Given the description of an element on the screen output the (x, y) to click on. 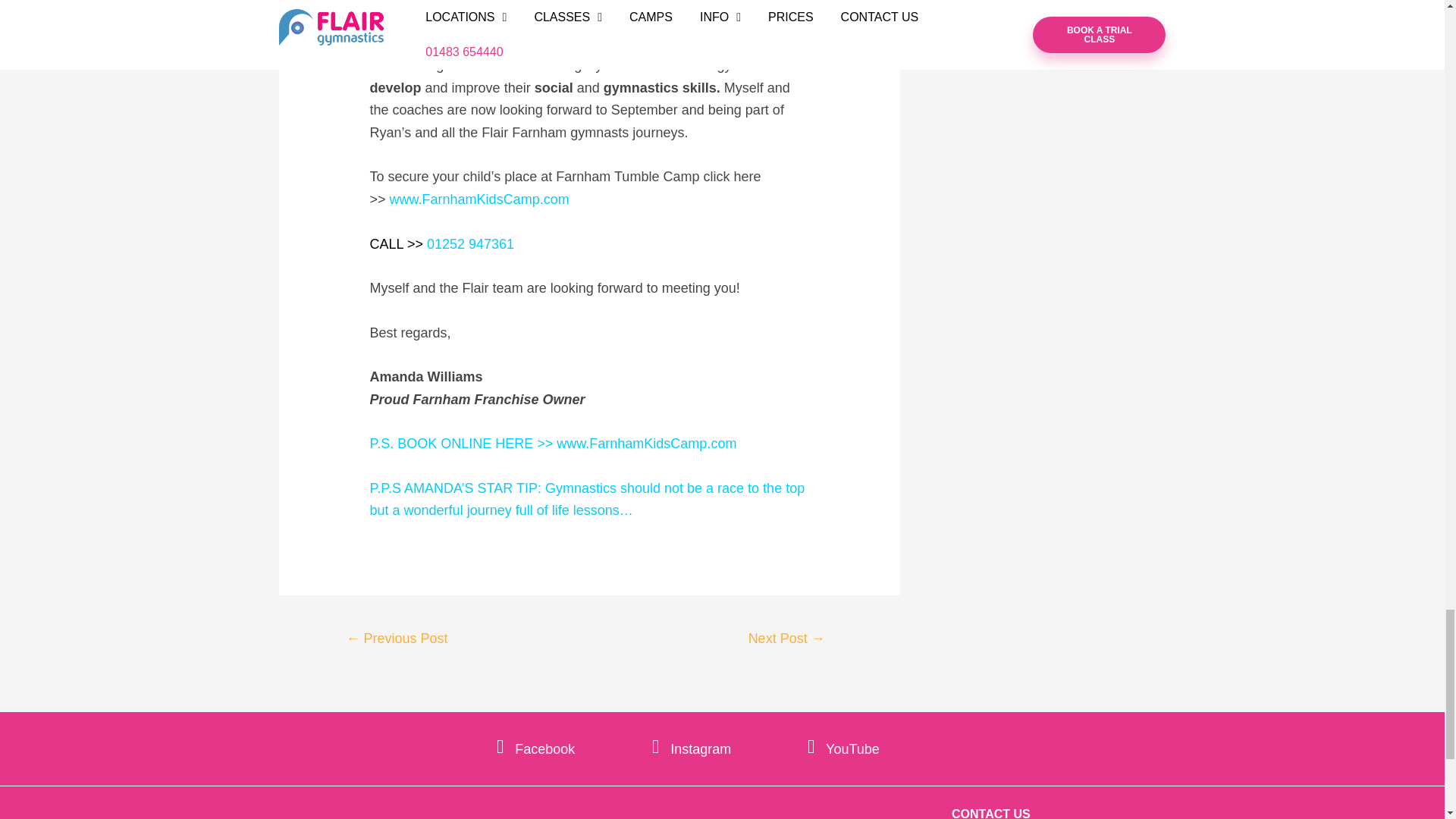
How to achieve your goals through gymnastics (395, 640)
Behind the scenes of our children's gymnastics clubs (786, 640)
